Given the description of an element on the screen output the (x, y) to click on. 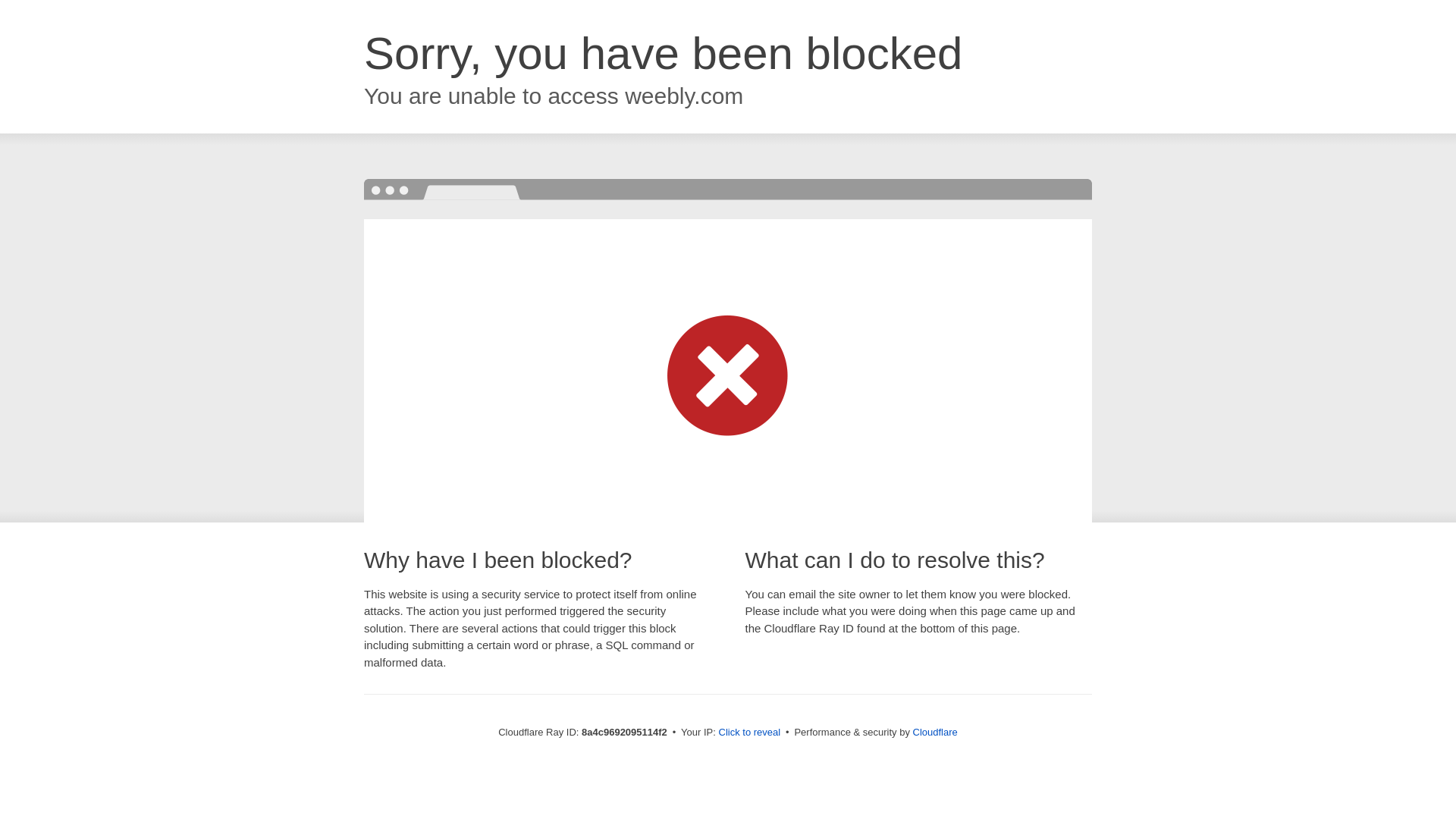
Click to reveal (749, 732)
Cloudflare (935, 731)
